Given the description of an element on the screen output the (x, y) to click on. 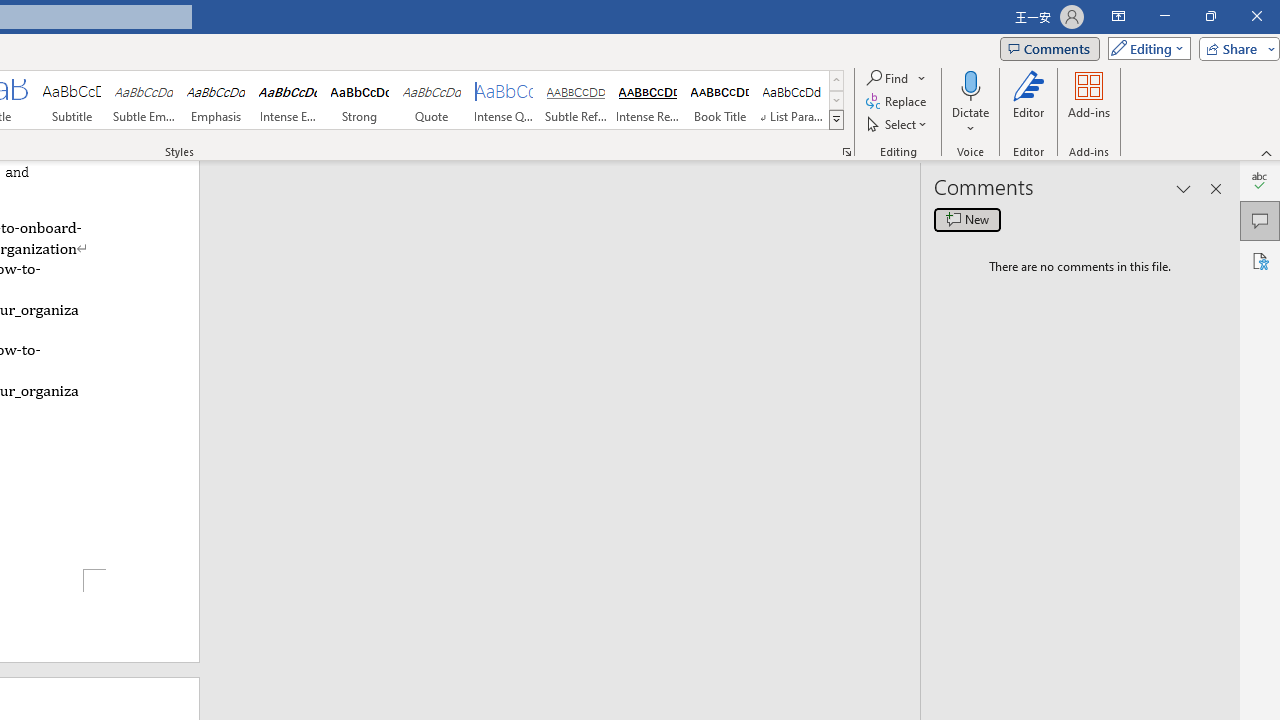
Intense Emphasis (287, 100)
Row Down (836, 100)
Subtle Emphasis (143, 100)
Editing (1144, 47)
Editor (1260, 180)
Subtle Reference (575, 100)
New comment (967, 219)
